Given the description of an element on the screen output the (x, y) to click on. 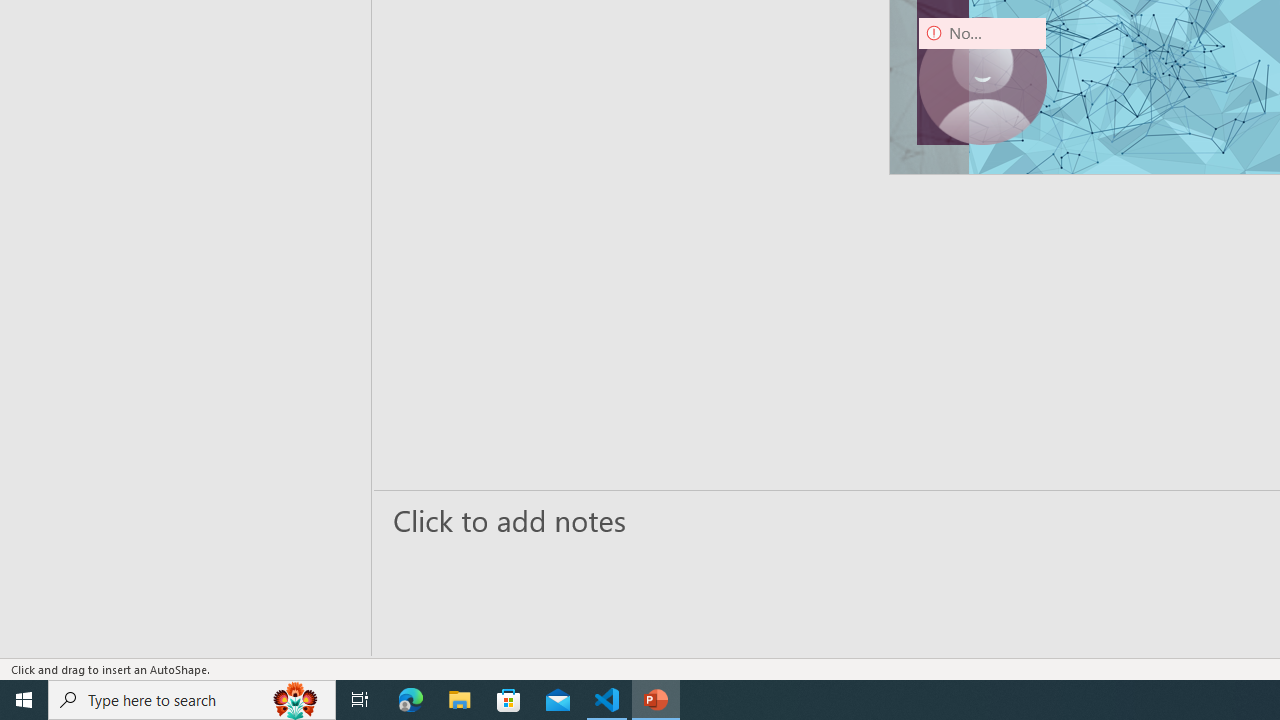
Camera 9, No camera detected. (982, 80)
